Given the description of an element on the screen output the (x, y) to click on. 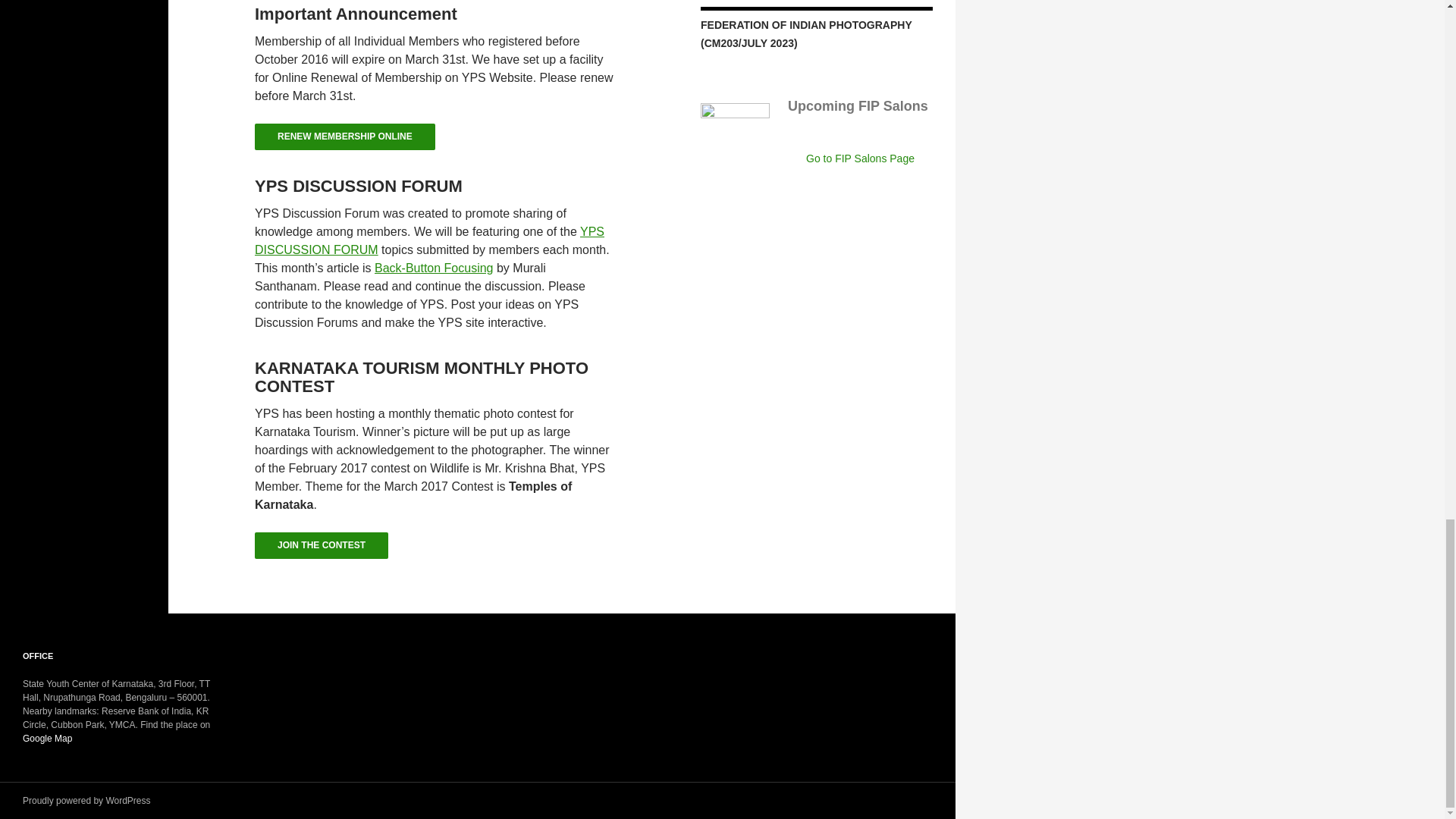
YPS DISCUSSION FORUM (429, 240)
JOIN THE CONTEST (321, 545)
Back-Button Focusing (433, 267)
RENEW MEMBERSHIP ONLINE (344, 140)
JOIN THE CONTEST (321, 549)
RENEW MEMBERSHIP ONLINE (344, 136)
